Given the description of an element on the screen output the (x, y) to click on. 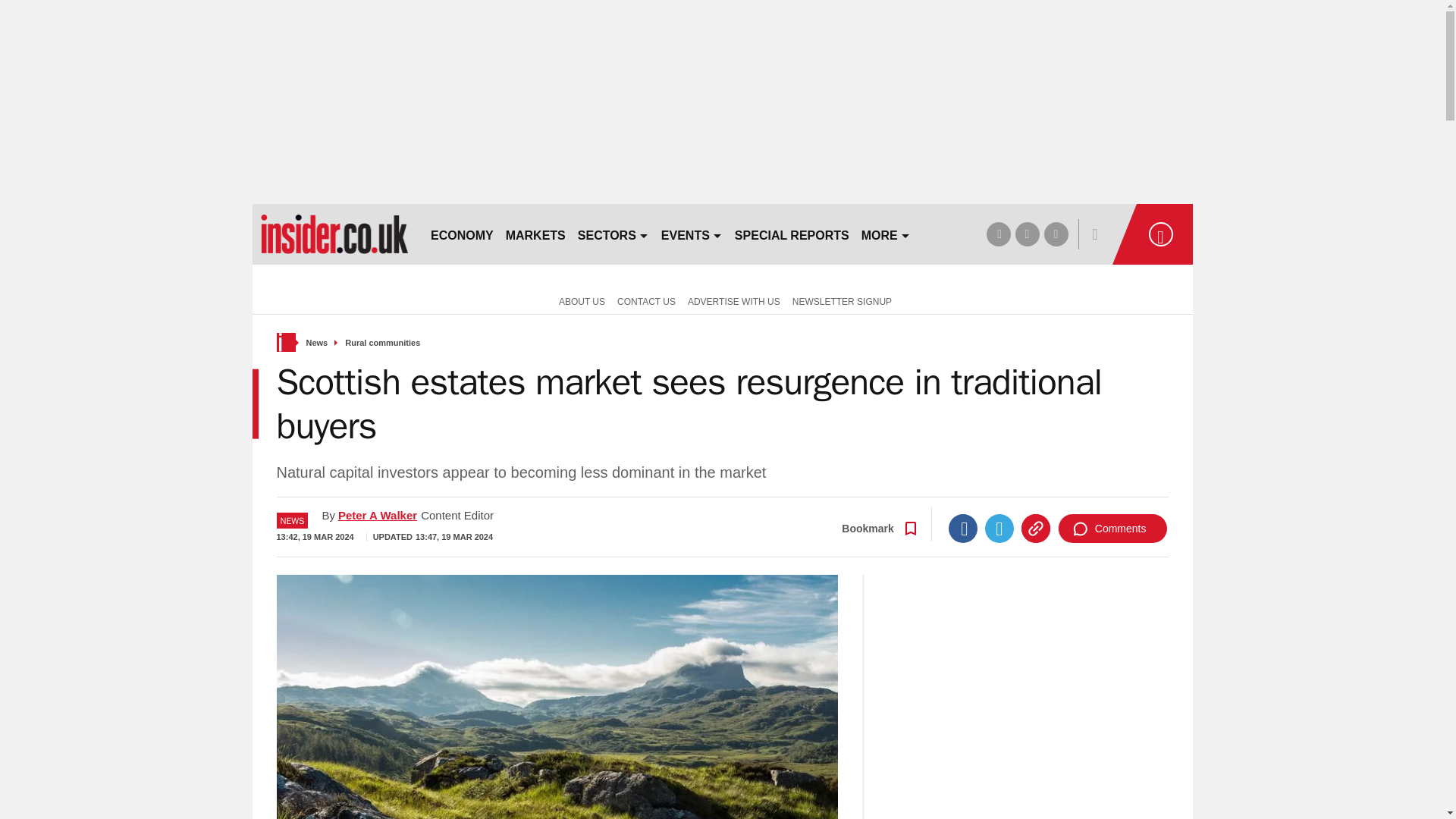
SPECIAL REPORTS (792, 233)
ECONOMY (462, 233)
CONTACT US (646, 300)
Comments (1112, 528)
linkedin (1055, 233)
SECTORS (613, 233)
NEWSLETTER SIGNUP (842, 300)
Home (285, 342)
facebook (997, 233)
EVENTS (692, 233)
Twitter (999, 528)
News (317, 343)
twitter (1026, 233)
businessInsider (333, 233)
MORE (886, 233)
